Given the description of an element on the screen output the (x, y) to click on. 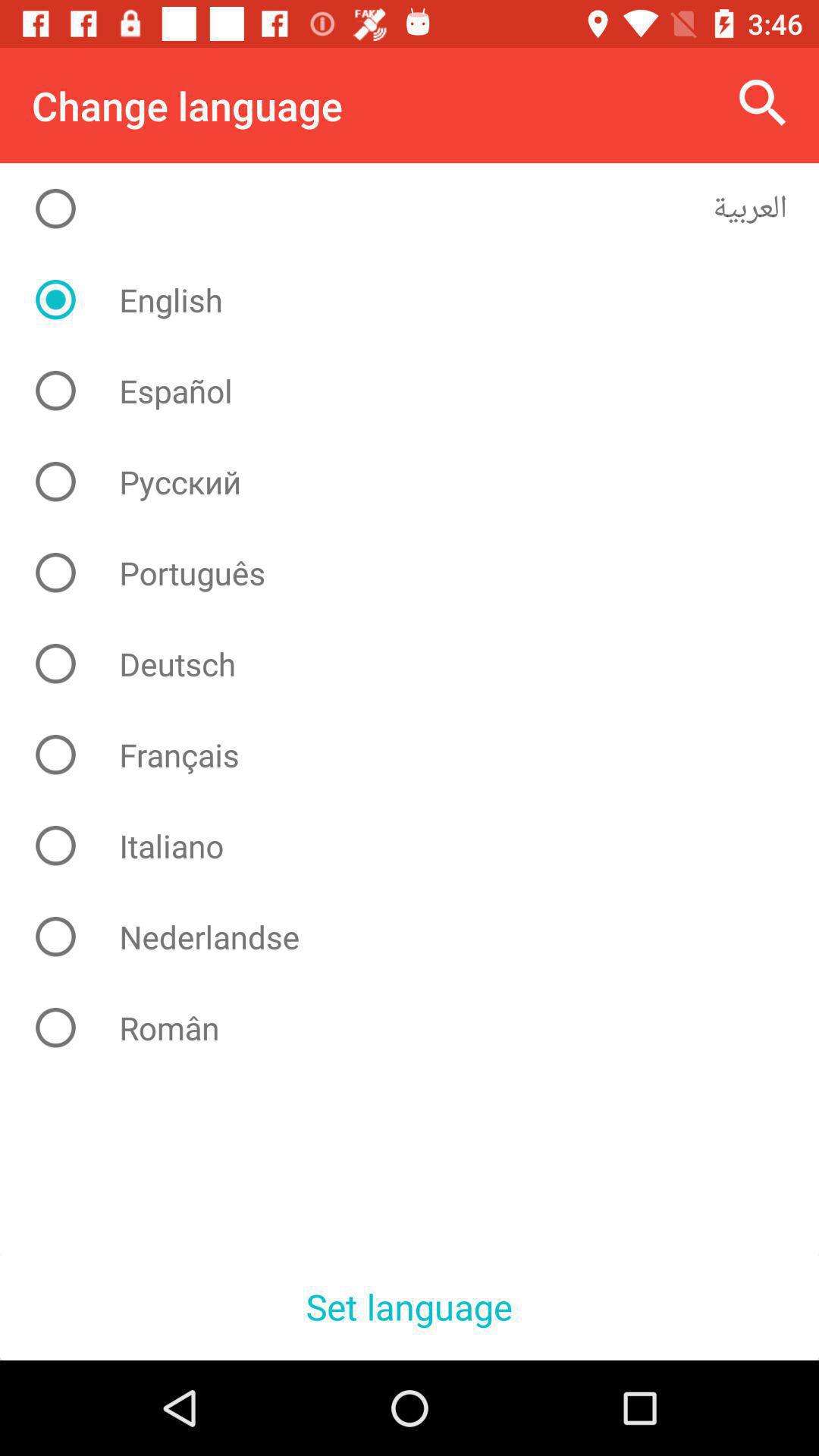
scroll until nederlandse item (421, 936)
